Given the description of an element on the screen output the (x, y) to click on. 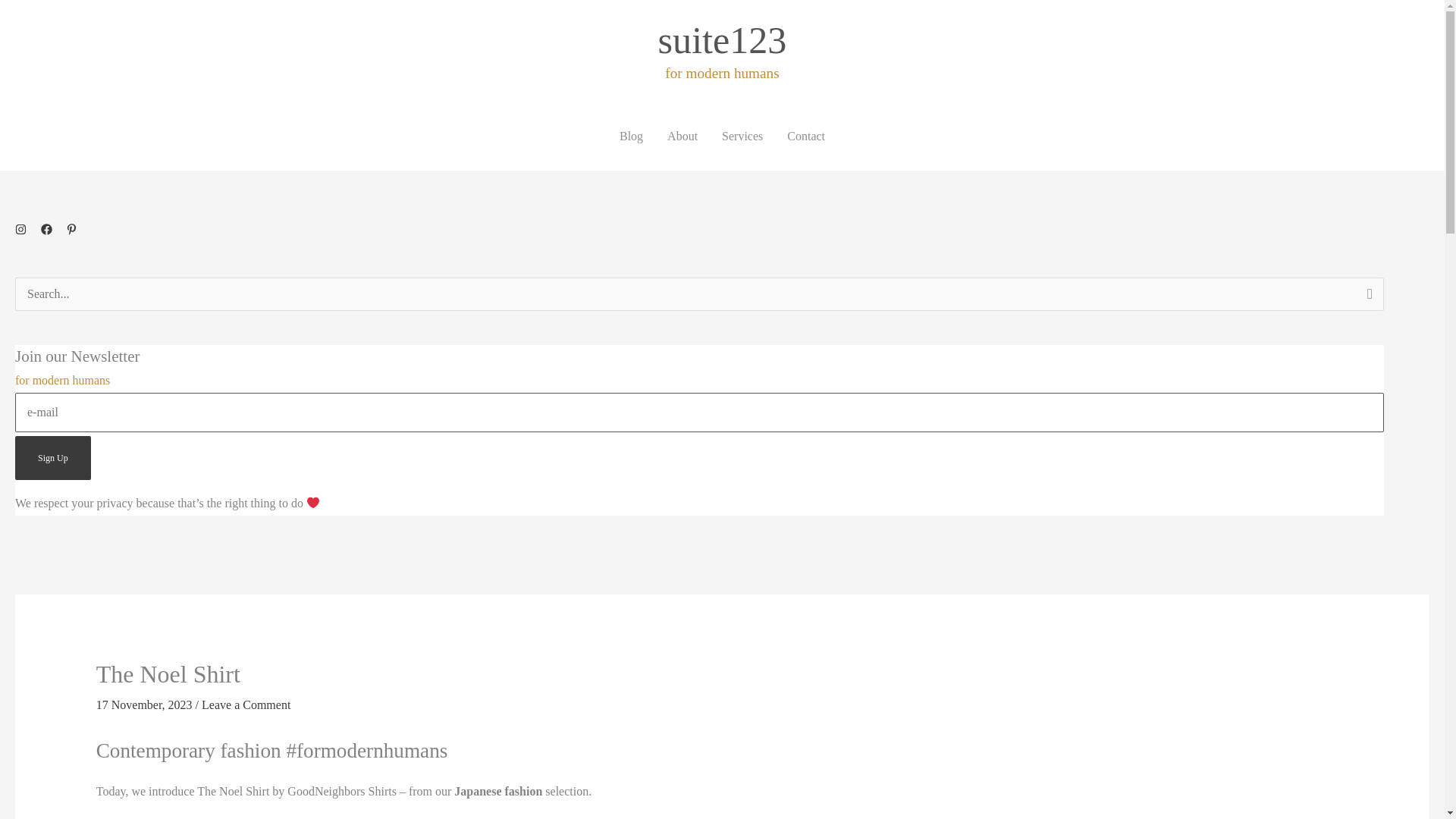
Services (742, 136)
Search (1366, 298)
suite123 (722, 39)
Blog (631, 136)
About (682, 136)
Contact (805, 136)
Sign Up (52, 457)
Search (1366, 298)
Search (1366, 298)
Sign Up (52, 457)
Leave a Comment (245, 704)
